Given the description of an element on the screen output the (x, y) to click on. 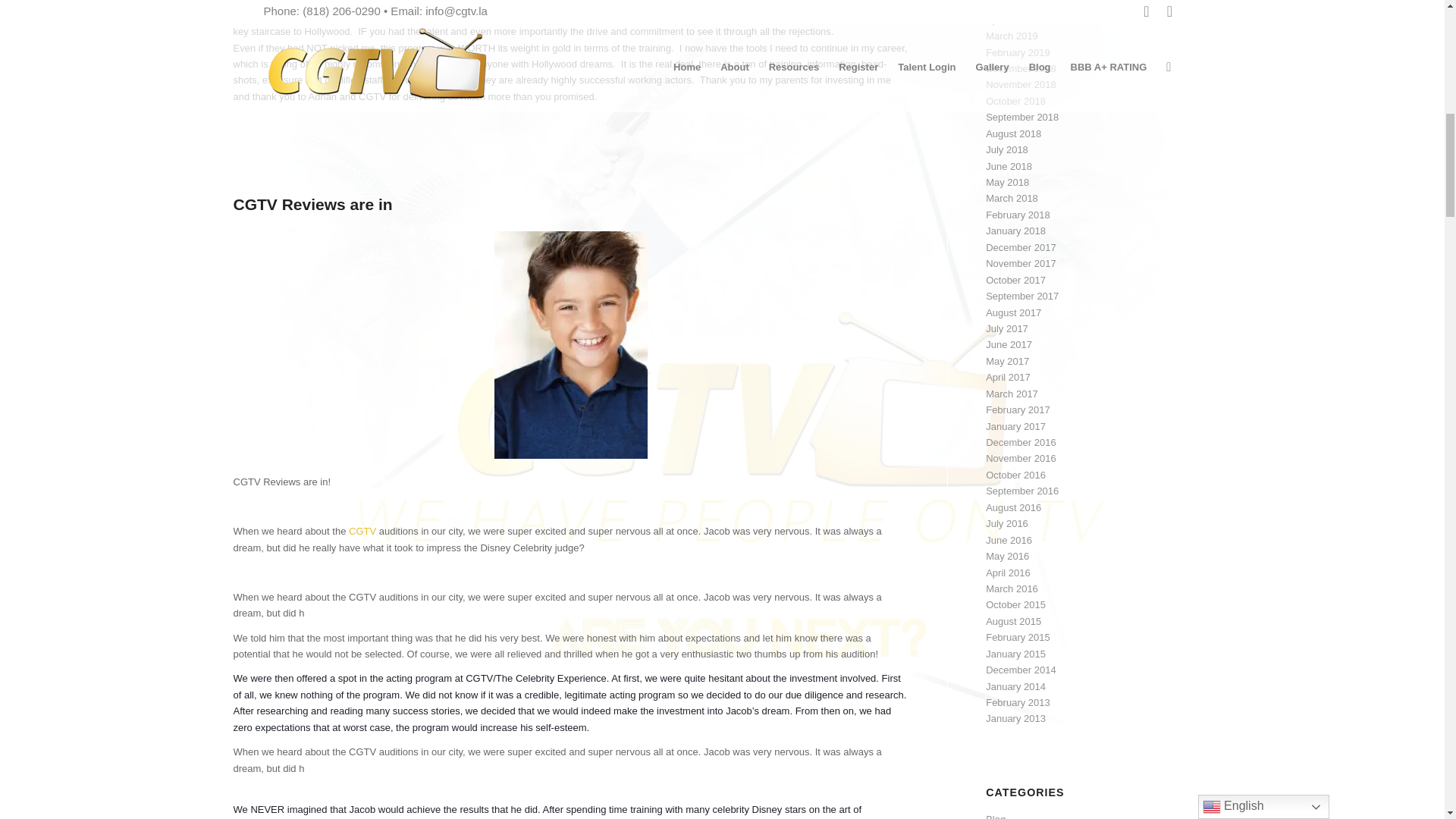
Permanent Link: CGTV Reviews are in (312, 203)
CGTV Reviews are in (312, 203)
CGTV (362, 531)
